Given the description of an element on the screen output the (x, y) to click on. 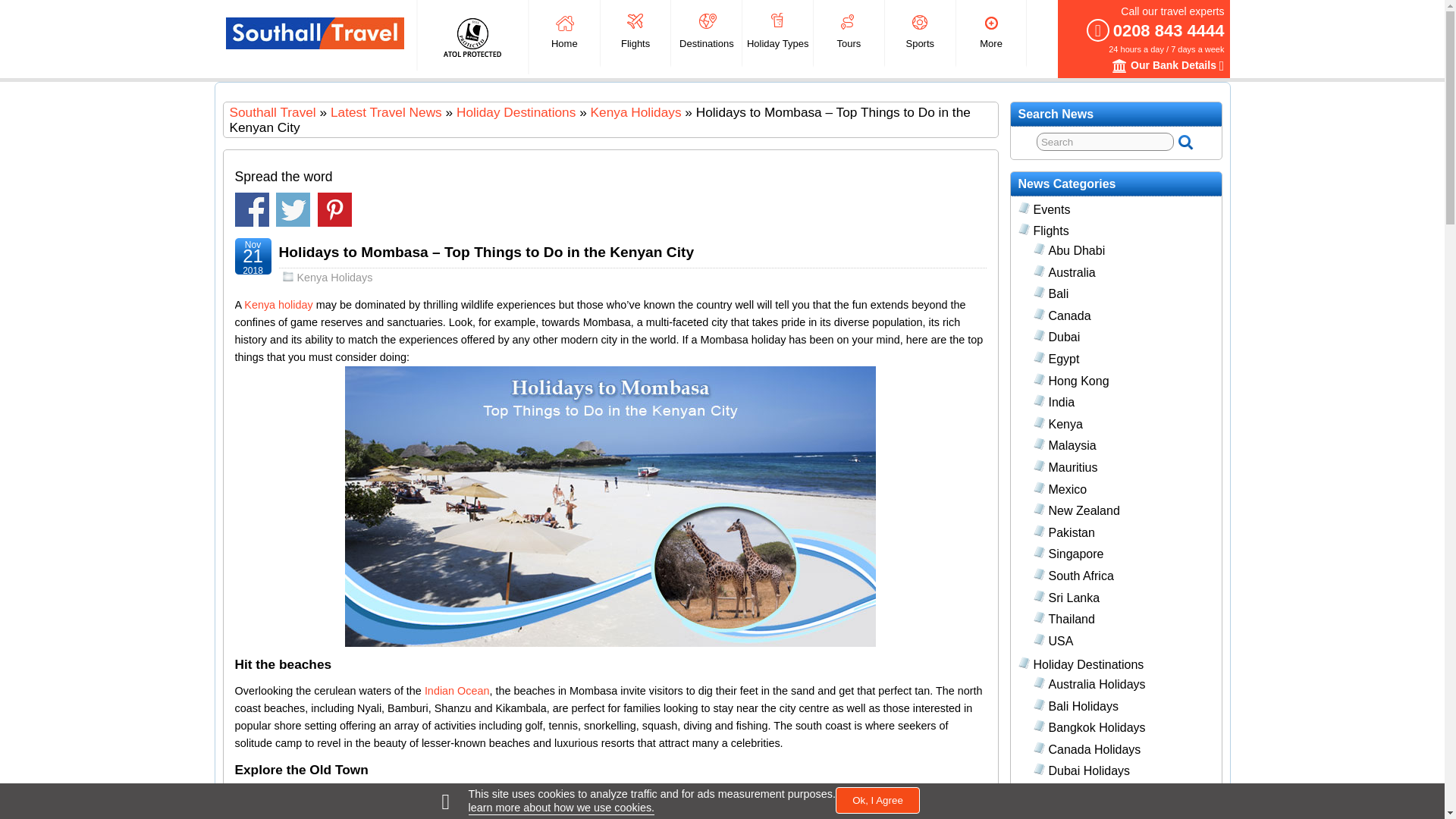
www.southalltravel.co.uk (271, 111)
Home (564, 32)
Latest Travel News (386, 111)
Holiday Destinations (516, 111)
ATOL Protection (472, 36)
Flights (635, 32)
Southall Travel (314, 33)
Search (1104, 141)
Kenya Holidays (636, 111)
Holiday Types (777, 32)
